Given the description of an element on the screen output the (x, y) to click on. 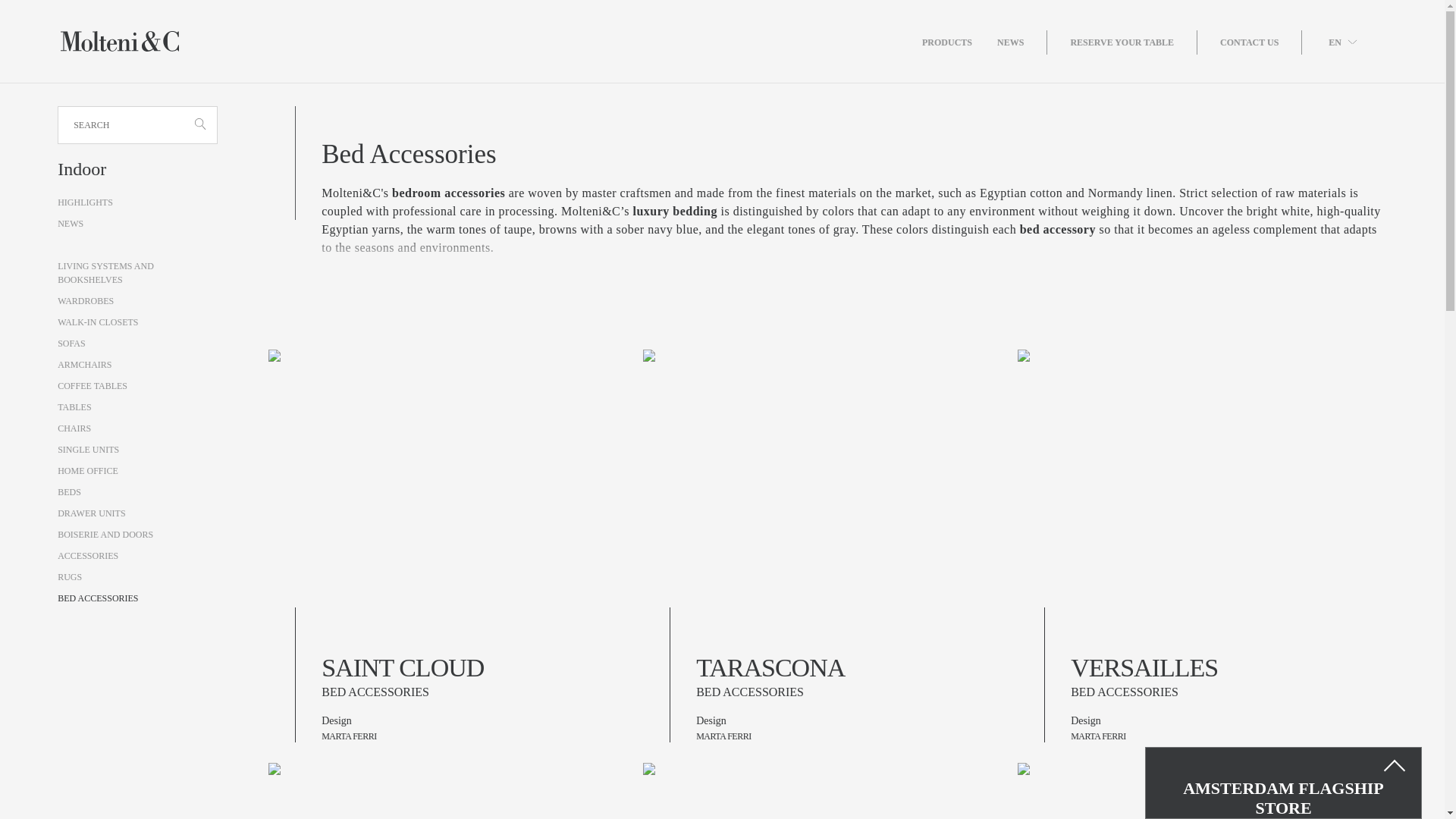
EN (1341, 41)
RESERVE YOUR TABLE (1133, 42)
NEWS (70, 223)
PRODUCTS (959, 42)
HIGHLIGHTS (85, 202)
CONTACT US (1260, 42)
WARDROBES (85, 300)
SOFAS (71, 343)
WALK-IN CLOSETS (98, 321)
ARMCHAIRS (85, 364)
NEWS (1021, 42)
LIVING SYSTEMS AND BOOKSHELVES (106, 273)
